Given the description of an element on the screen output the (x, y) to click on. 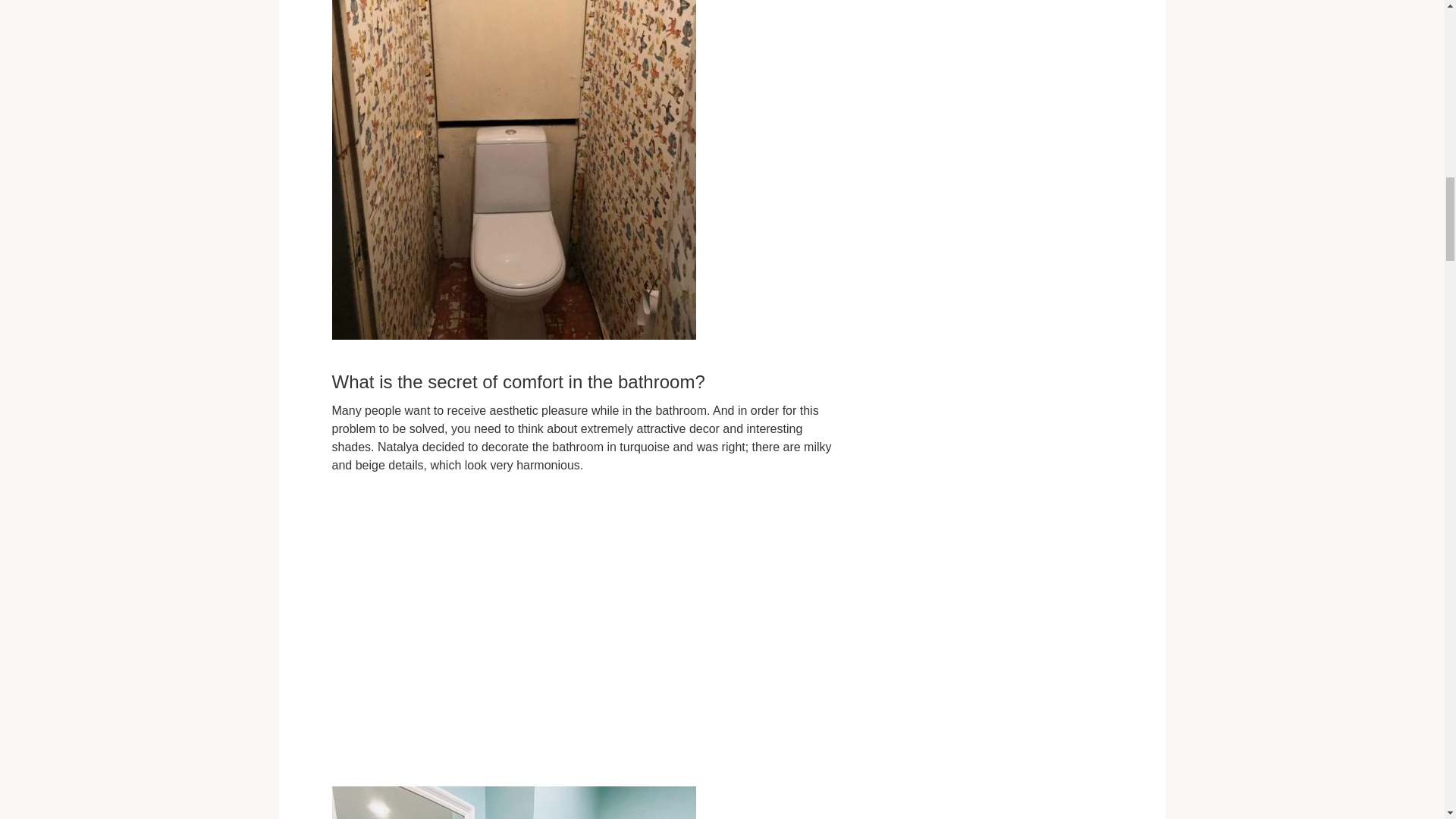
Advertisement (585, 703)
Advertisement (585, 556)
